Given the description of an element on the screen output the (x, y) to click on. 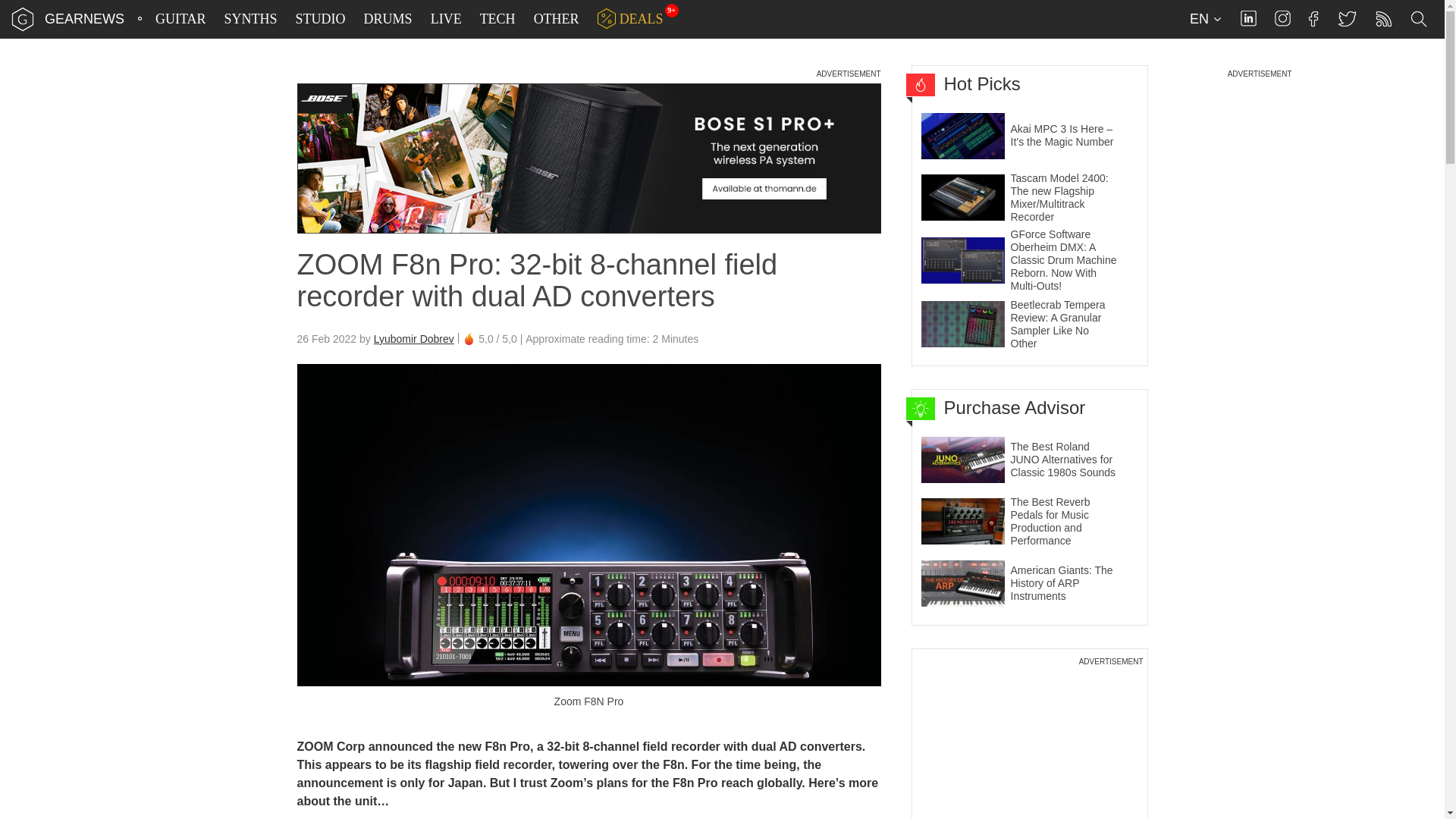
TECH (497, 19)
LIVE (445, 19)
SYNTHS (250, 19)
Facebook (1313, 18)
GEARNEWS (84, 18)
LinkedIn (1248, 18)
Instagram (1282, 18)
OTHER (556, 19)
STUDIO (320, 19)
DRUMS (387, 19)
Approximate reading time: (611, 339)
GUITAR (181, 19)
DEALS (630, 19)
